Given the description of an element on the screen output the (x, y) to click on. 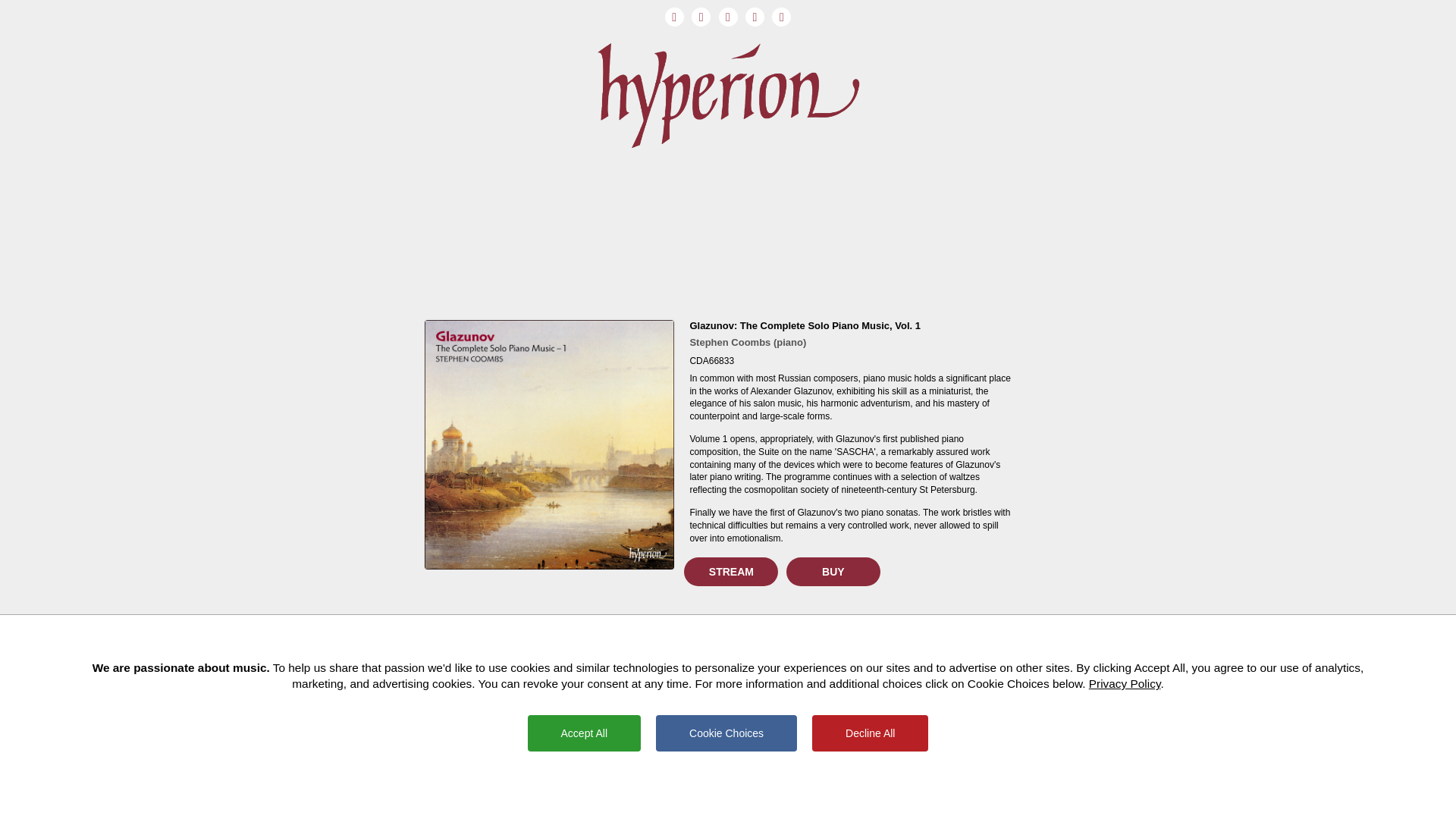
Accept All (583, 732)
Glazunov: The Complete Solo Piano Music, Vol. 1 (804, 325)
PRIVACY (737, 798)
SAFE SURF (701, 798)
BUY (833, 571)
Cookie Choices (726, 732)
STREAM (730, 571)
TERMS (668, 798)
Privacy Policy (1124, 683)
Decline All (870, 732)
COOKIE INFO (776, 798)
